Given the description of an element on the screen output the (x, y) to click on. 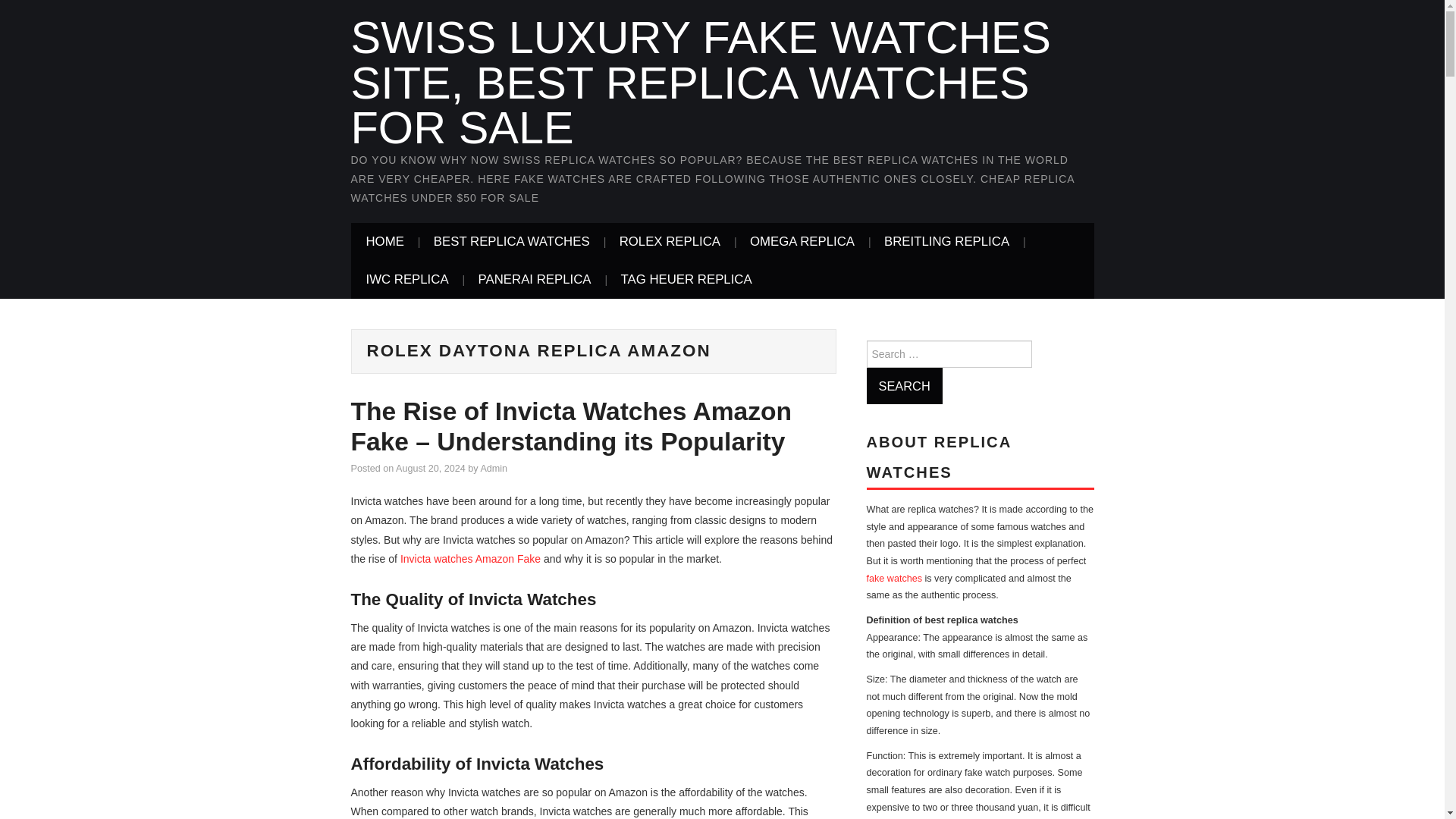
OMEGA REPLICA (802, 241)
View all posts by Admin (493, 468)
August 20, 2024 (430, 468)
12:45 pm (430, 468)
IWC REPLICA (406, 279)
Search (904, 385)
BEST REPLICA WATCHES (512, 241)
HOME (384, 241)
TAG HEUER REPLICA (686, 279)
PANERAI REPLICA (535, 279)
